Given the description of an element on the screen output the (x, y) to click on. 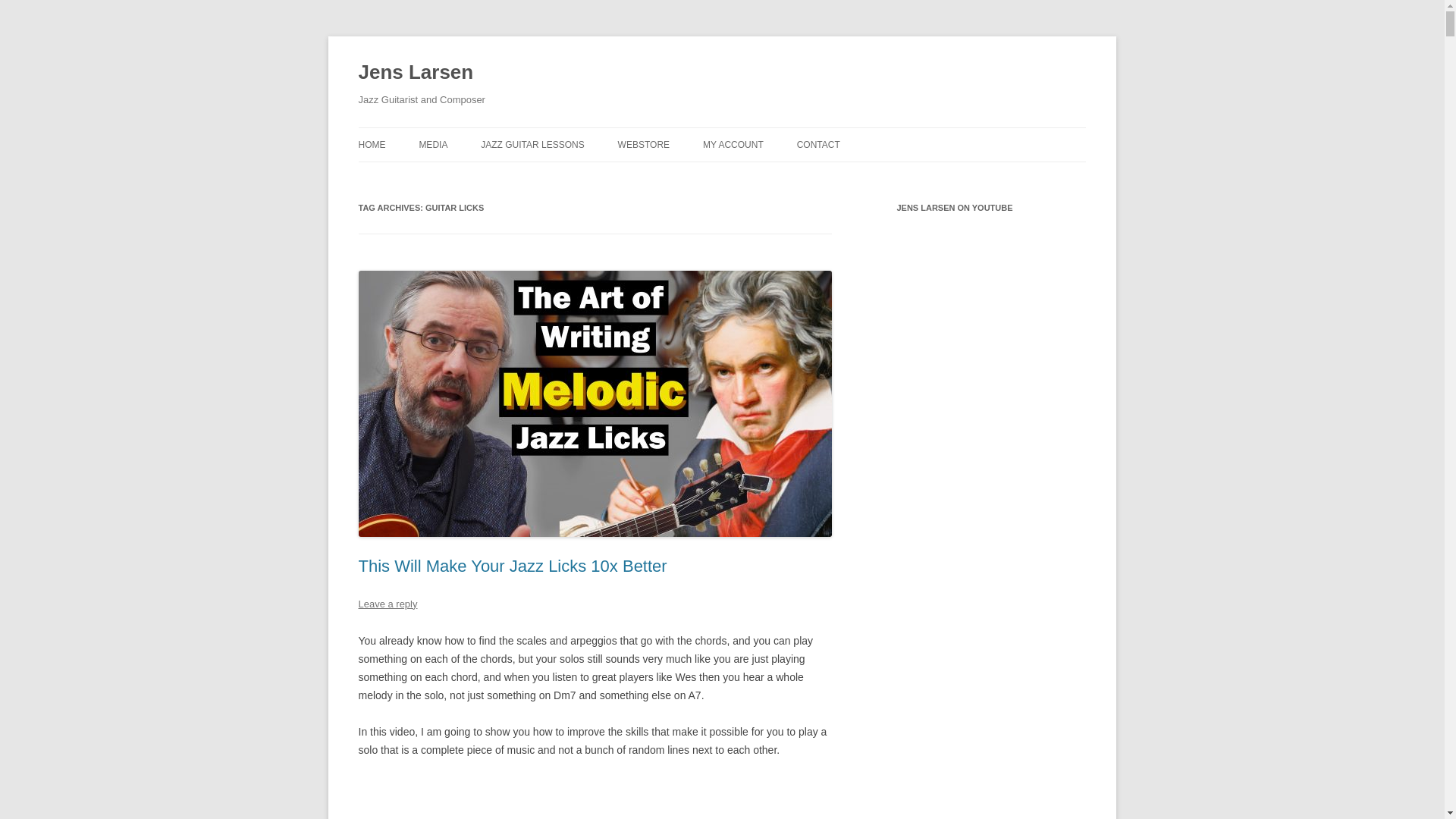
MY ACCOUNT (732, 144)
Jens Larsen (415, 72)
Jens Larsen (415, 72)
Leave a reply (387, 603)
This Will Make Your Jazz Licks 10x Better (594, 798)
CONTACT (818, 144)
WEBSTORE (643, 144)
This Will Make Your Jazz Licks 10x Better (512, 565)
JAZZ GUITAR LESSONS (531, 144)
ONLINE LESSONS (555, 176)
CART (778, 176)
